Given the description of an element on the screen output the (x, y) to click on. 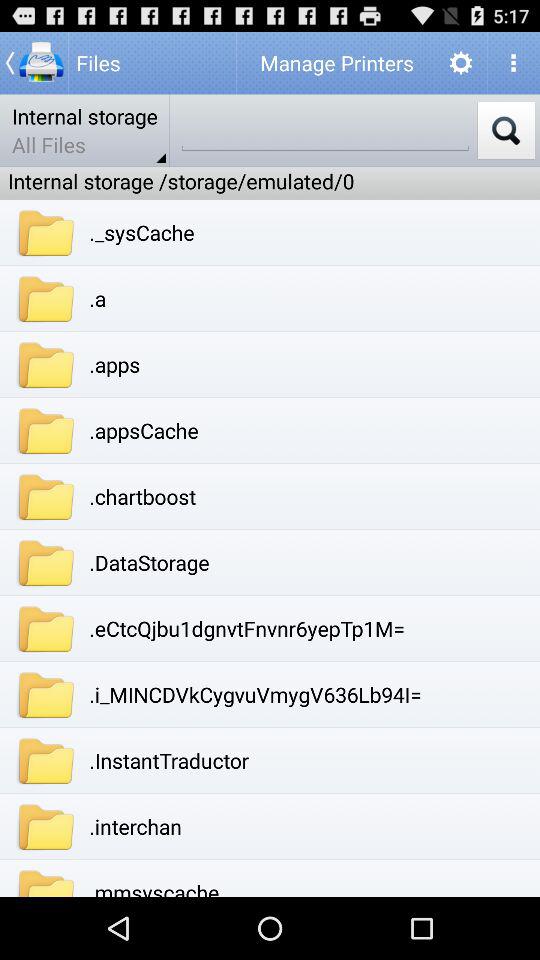
launch item below .instanttraductor app (135, 826)
